Given the description of an element on the screen output the (x, y) to click on. 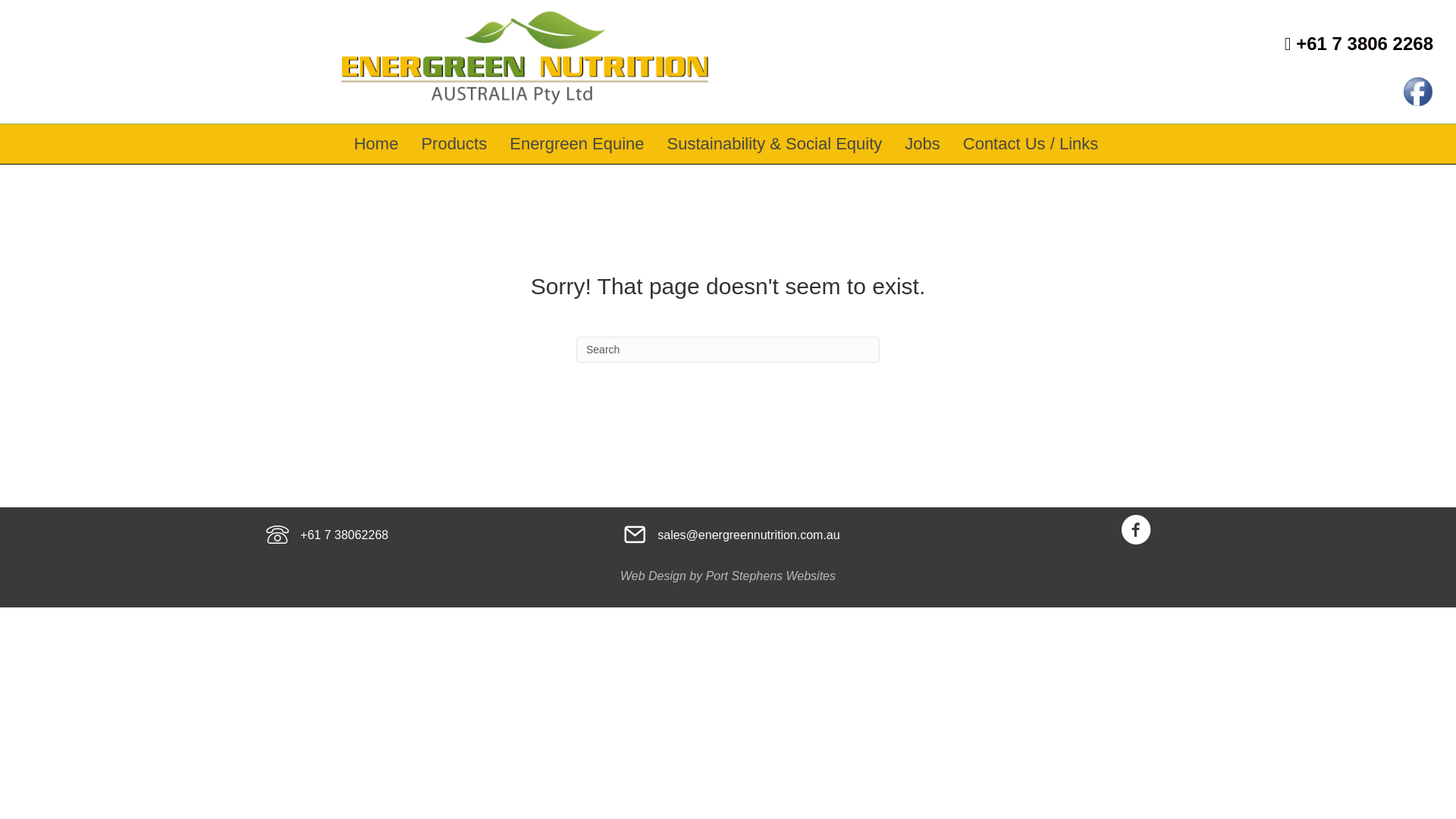
+61 7 3806 2268 Element type: text (1358, 43)
Web Design by Port Stephens Websites Element type: text (727, 575)
Home Element type: text (376, 144)
Jobs Element type: text (922, 144)
ua.moc.noitirtunneergrene@selas Element type: text (748, 534)
Products Element type: text (453, 144)
Type and press Enter to search. Element type: hover (727, 349)
logo1 Element type: hover (524, 58)
+61 7 38062268 Element type: text (344, 534)
Sustainability & Social Equity Element type: text (774, 144)
Contact Us / Links Element type: text (1030, 144)
Energreen Equine Element type: text (576, 144)
